Given the description of an element on the screen output the (x, y) to click on. 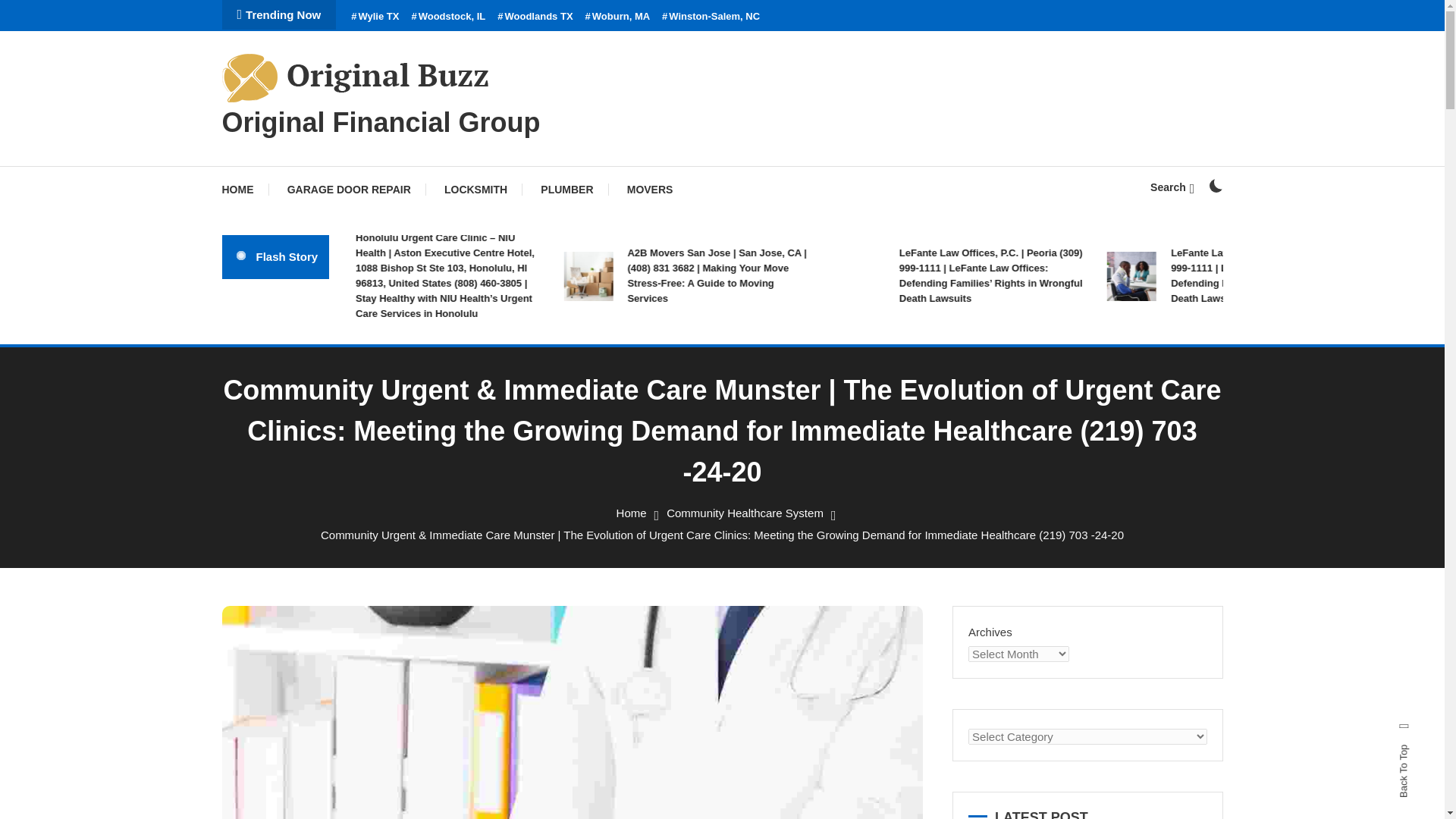
Woodlands TX (534, 16)
Search (1171, 186)
Wylie TX (374, 16)
Original Financial Group (380, 122)
GARAGE DOOR REPAIR (349, 189)
Home (630, 512)
PLUMBER (566, 189)
MOVERS (649, 189)
Community Healthcare System (745, 512)
LOCKSMITH (475, 189)
HOME (244, 189)
Woburn, MA (617, 16)
Search (768, 434)
on (1215, 185)
Woodstock, IL (447, 16)
